Given the description of an element on the screen output the (x, y) to click on. 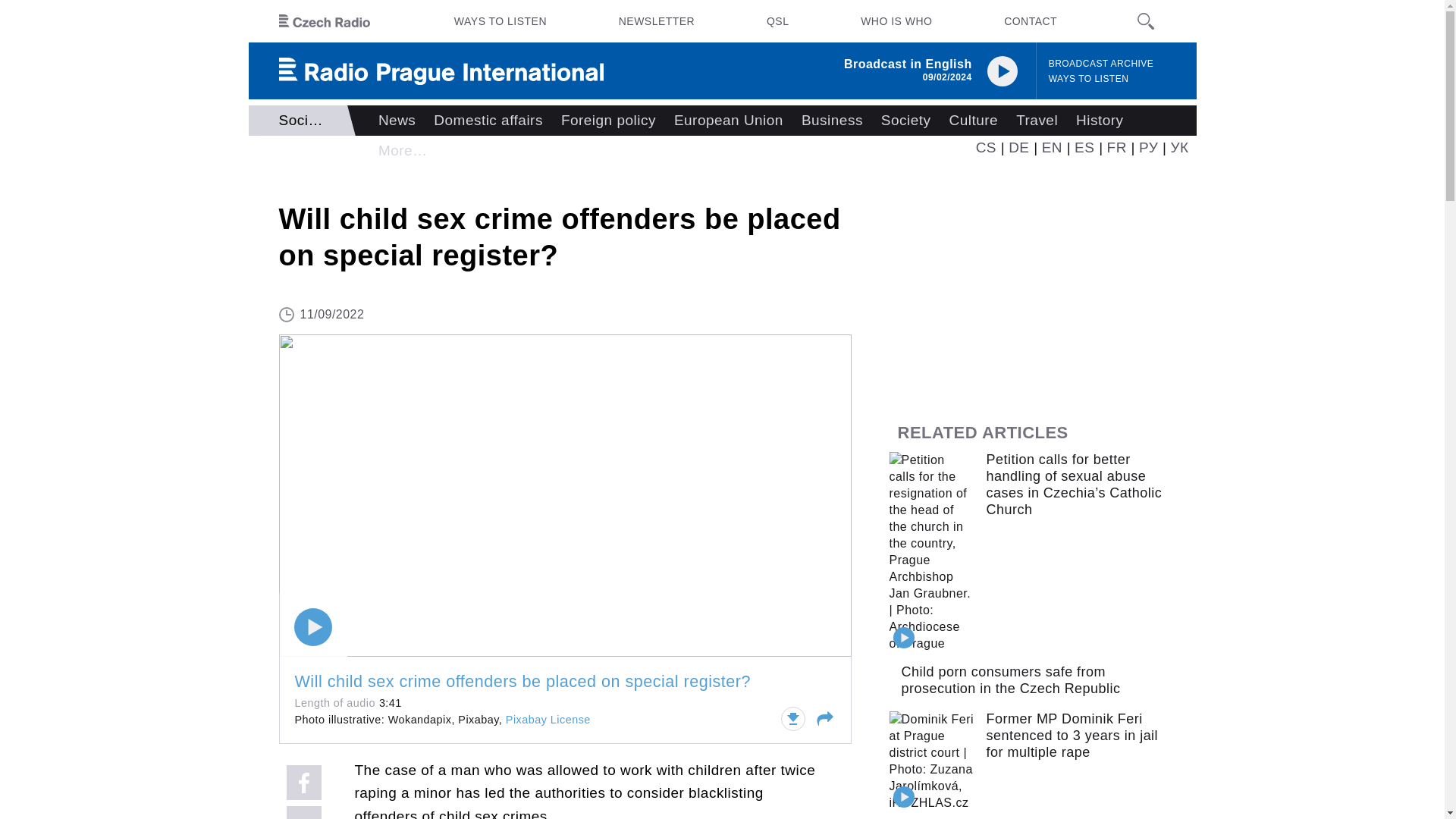
Foreign policy (608, 120)
ES (1084, 147)
WHO IS WHO (896, 21)
Business (832, 120)
WAYS TO LISTEN (500, 21)
Travel (1037, 120)
NEWSLETTER (656, 21)
Broadcast in English  (908, 63)
History (1099, 120)
European Union (728, 120)
